Given the description of an element on the screen output the (x, y) to click on. 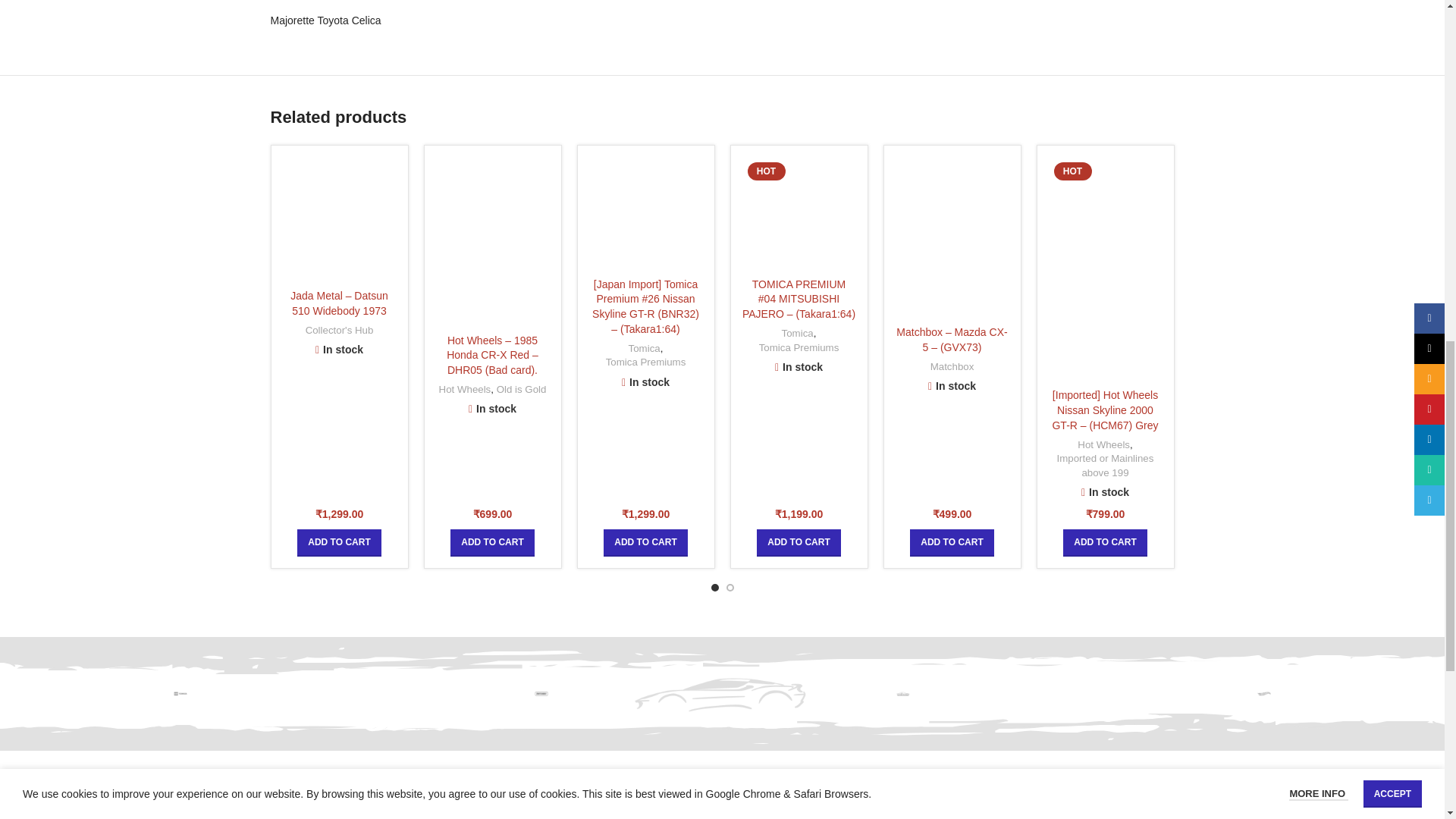
Majorette (902, 693)
Tomica (180, 693)
Hot Wheels (1263, 693)
Matchbox (541, 693)
